Given the description of an element on the screen output the (x, y) to click on. 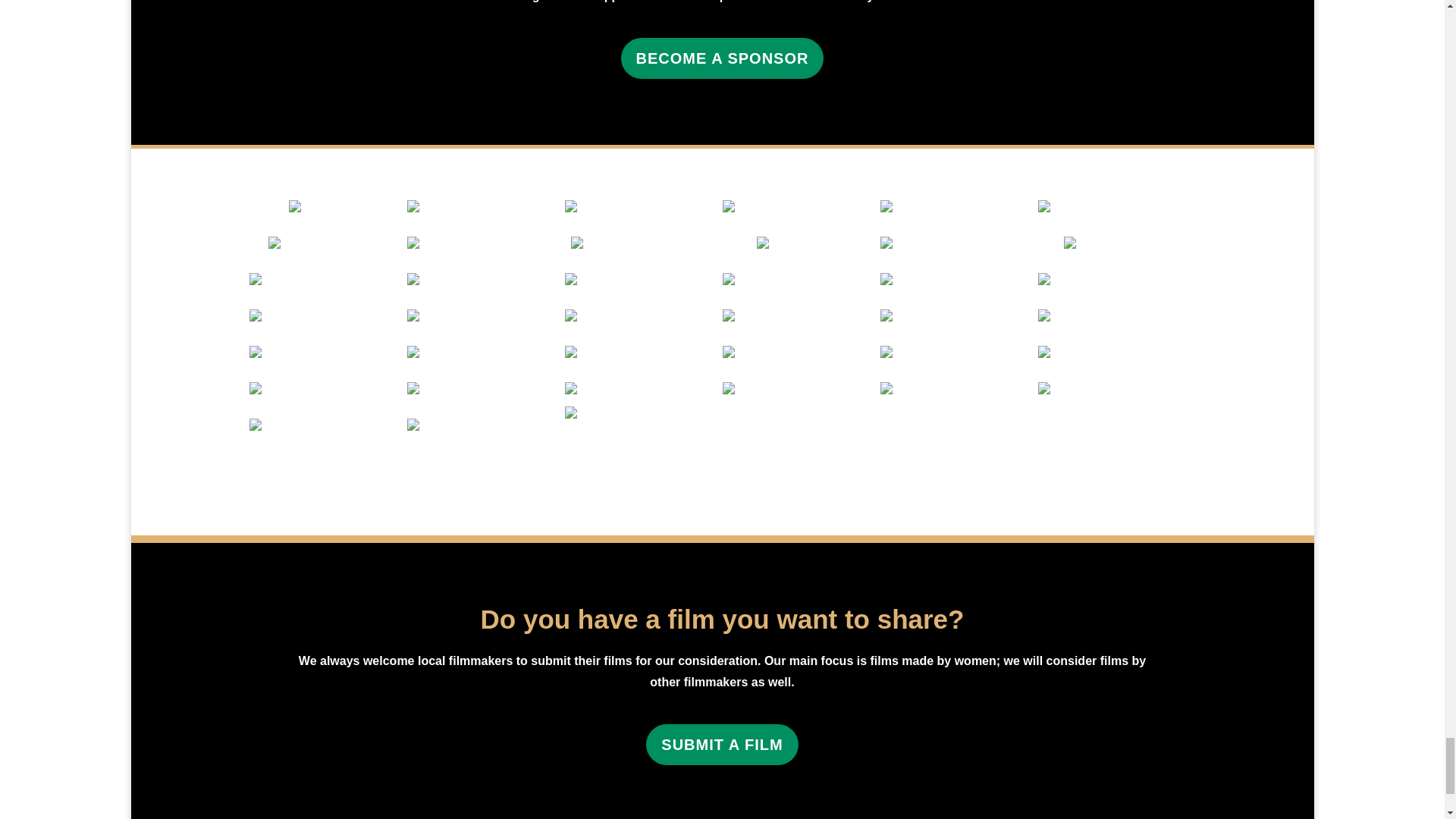
BECOME A SPONSOR (722, 57)
logos-18 (957, 205)
logos-15 (643, 205)
logos-13 (485, 205)
logos-14 (327, 205)
logos-16 (800, 205)
